Given the description of an element on the screen output the (x, y) to click on. 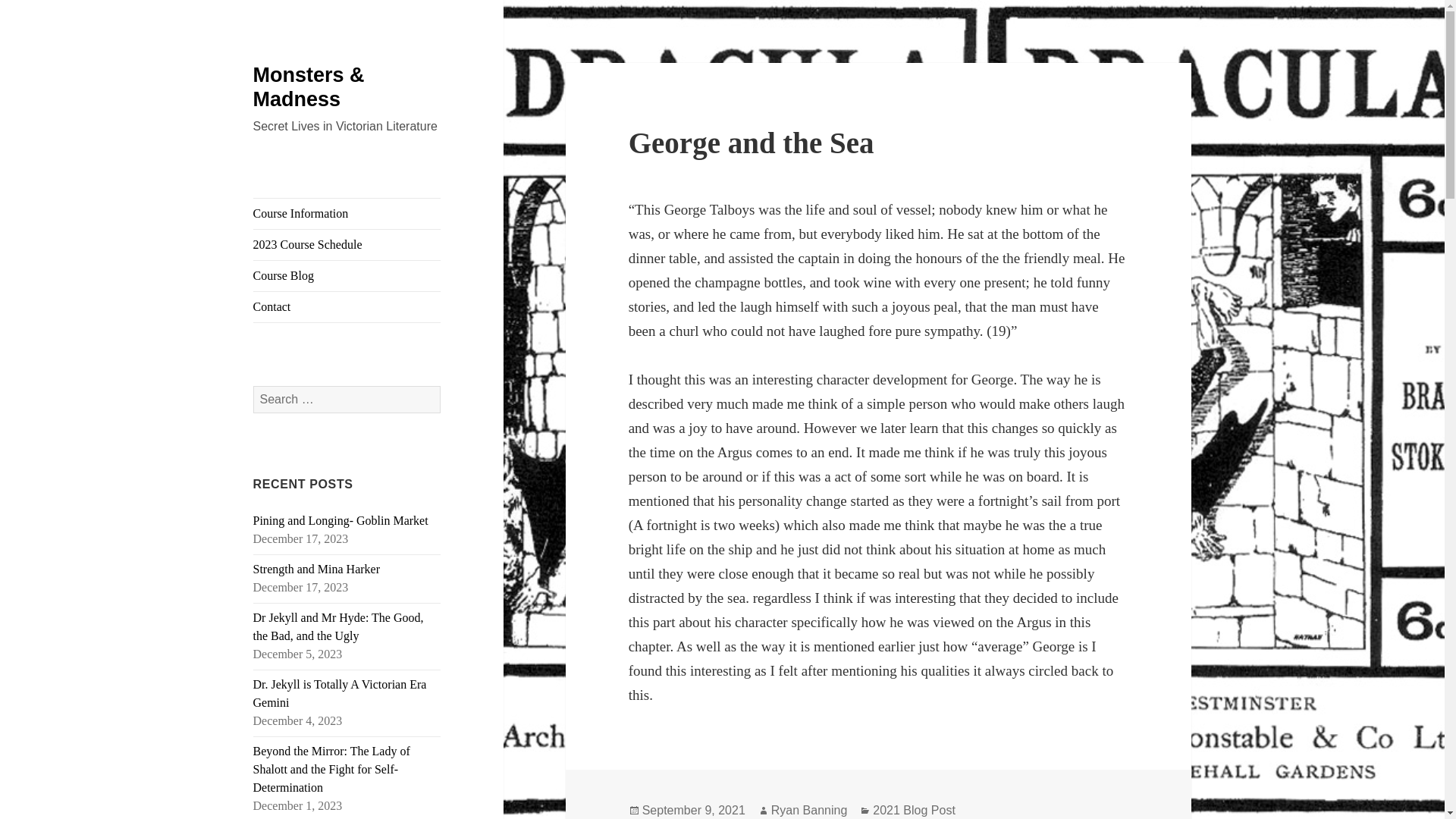
Strength and Mina Harker (316, 568)
Pining and Longing- Goblin Market (340, 520)
Dr. Jekyll is Totally A Victorian Era Gemini (339, 693)
2023 Course Schedule (347, 245)
Course Information (347, 214)
Dr Jekyll and Mr Hyde: The Good, the Bad, and the Ugly (338, 626)
Contact (347, 306)
Course Blog (347, 276)
